Given the description of an element on the screen output the (x, y) to click on. 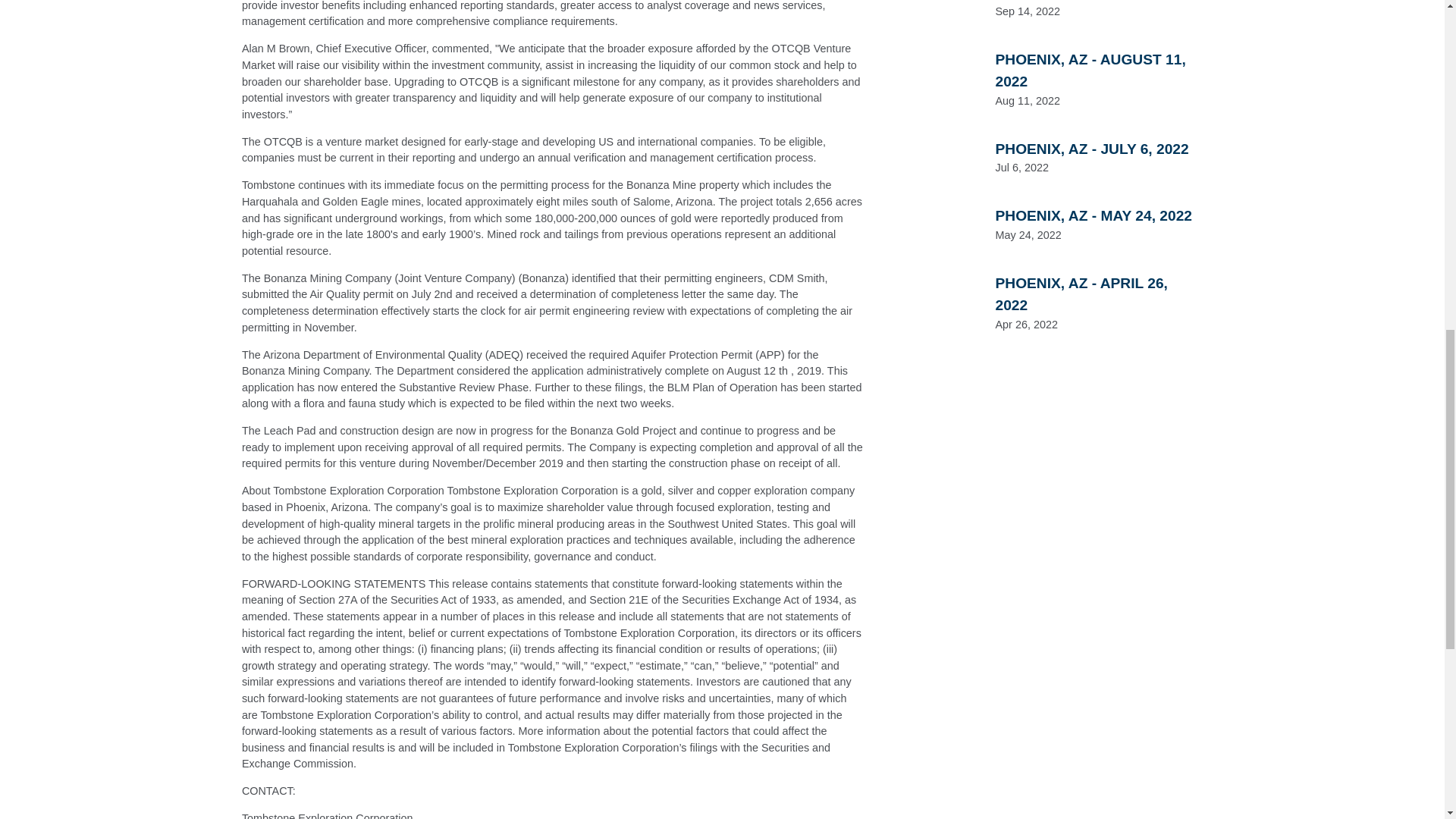
PHOENIX, AZ - JULY 6, 2022 (1091, 148)
PHOENIX, AZ - AUGUST 11, 2022 (1089, 70)
PHOENIX, AZ - APRIL 26, 2022 (1080, 293)
PHOENIX, AZ - MAY 24, 2022 (1093, 215)
